Given the description of an element on the screen output the (x, y) to click on. 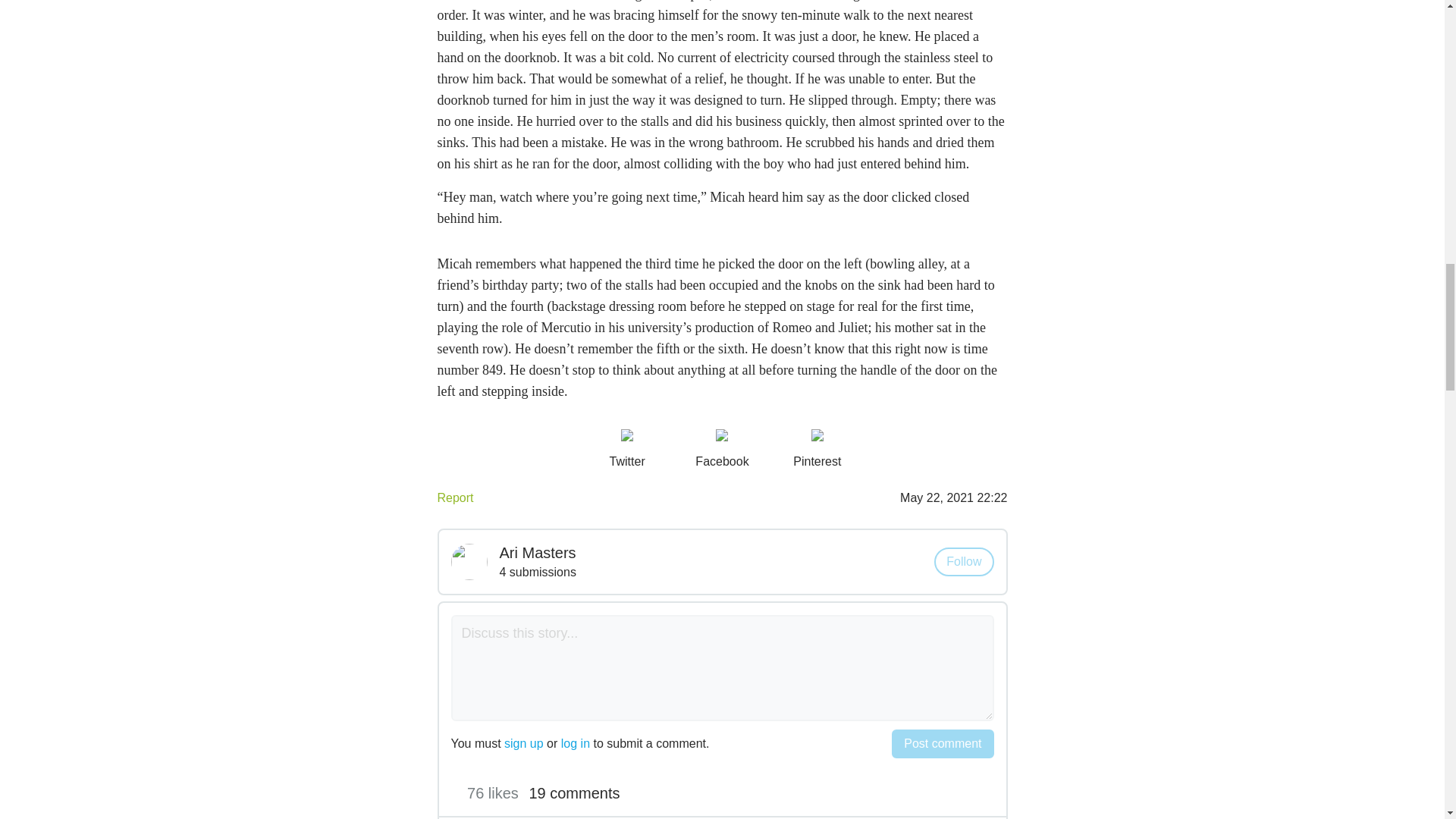
Post comment (941, 743)
